Given the description of an element on the screen output the (x, y) to click on. 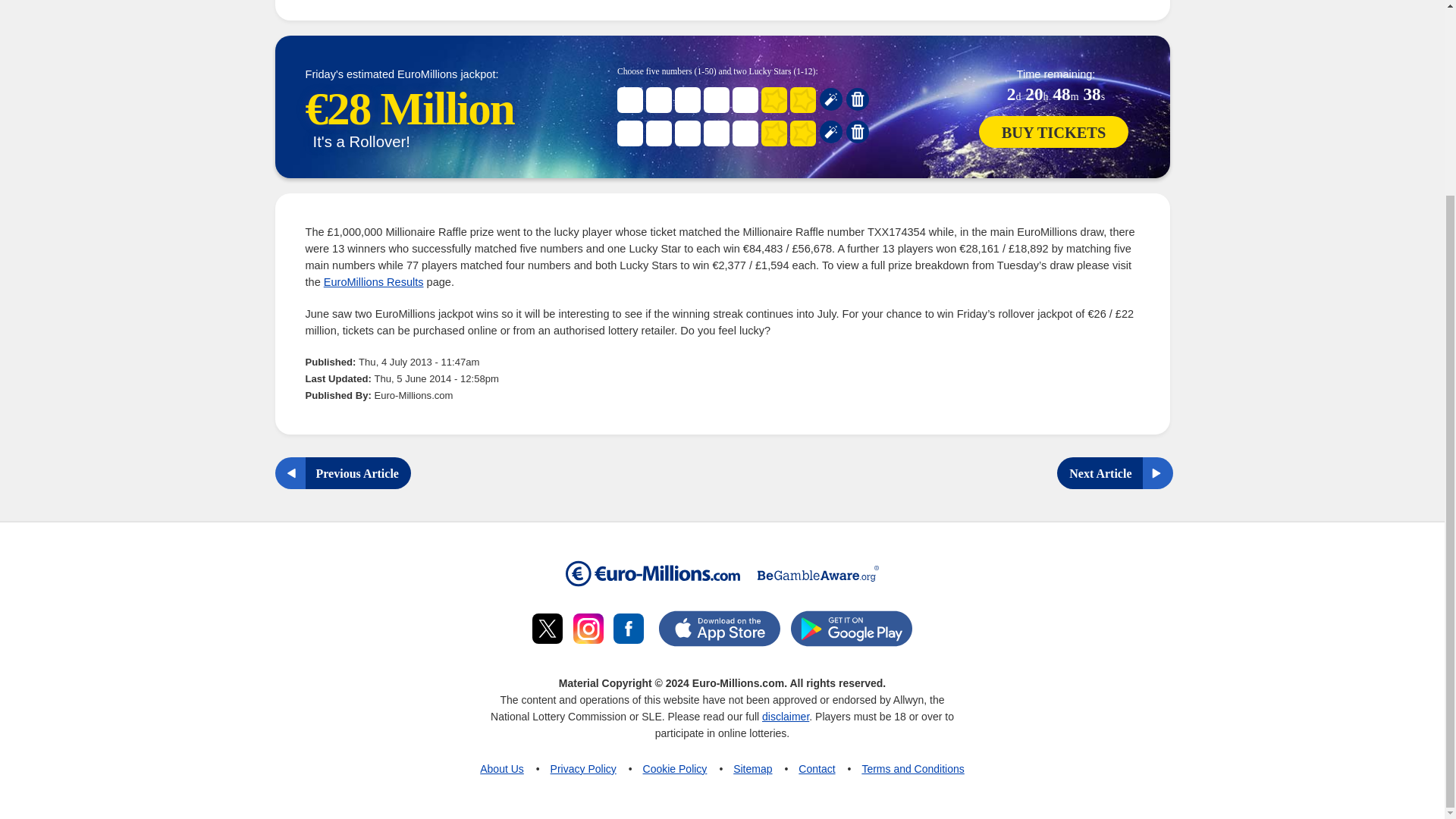
Buy Tickets (1053, 132)
